Given the description of an element on the screen output the (x, y) to click on. 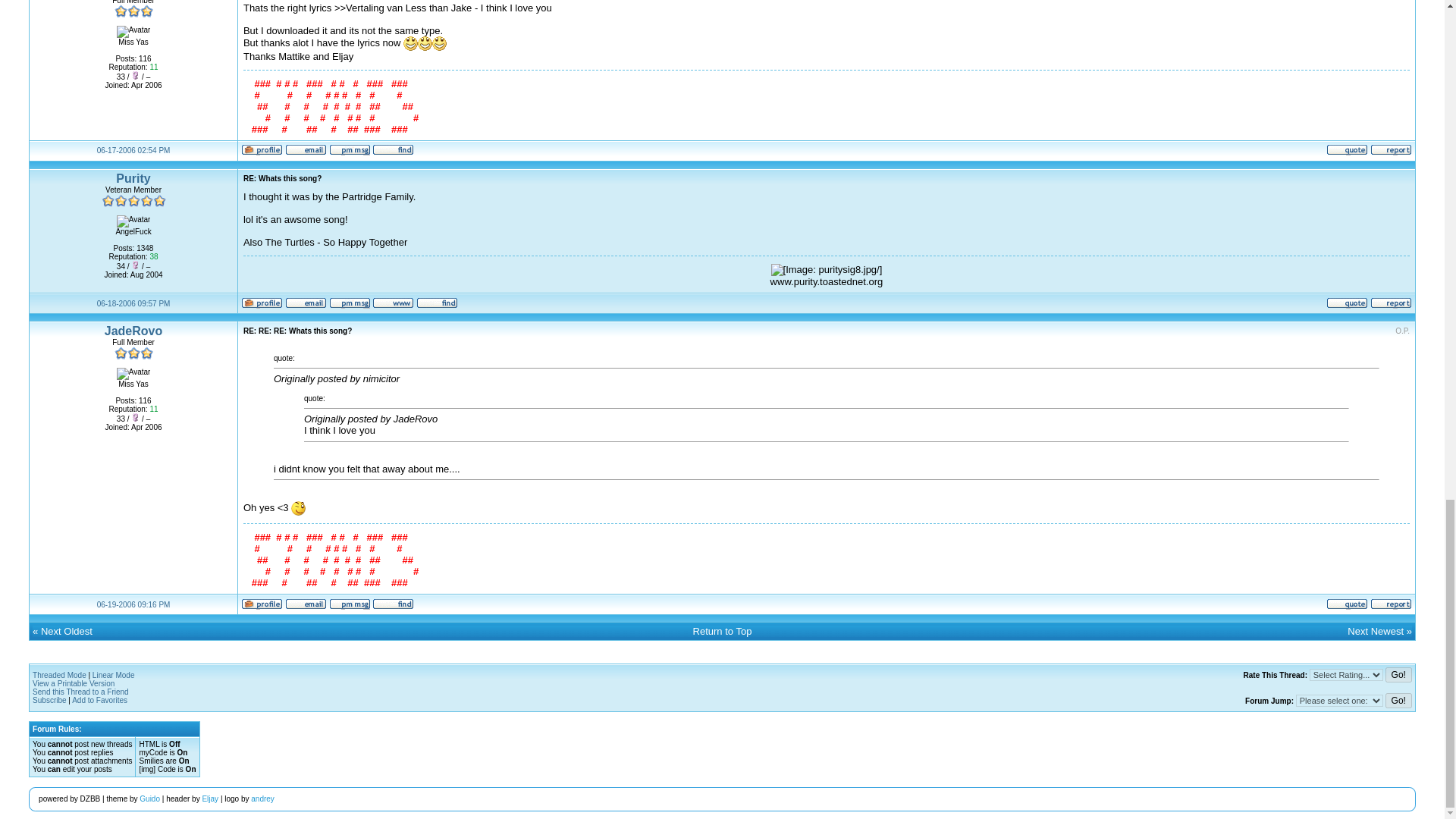
Report this post to the forum Moderators (1391, 152)
Original Poster (1401, 330)
Go! (1399, 700)
Poster's local time: 03:57 AM (133, 303)
Poster's local time: 02:54 AM (133, 150)
Report this post to the forum Moderators (1391, 306)
Go! (1399, 674)
